Given the description of an element on the screen output the (x, y) to click on. 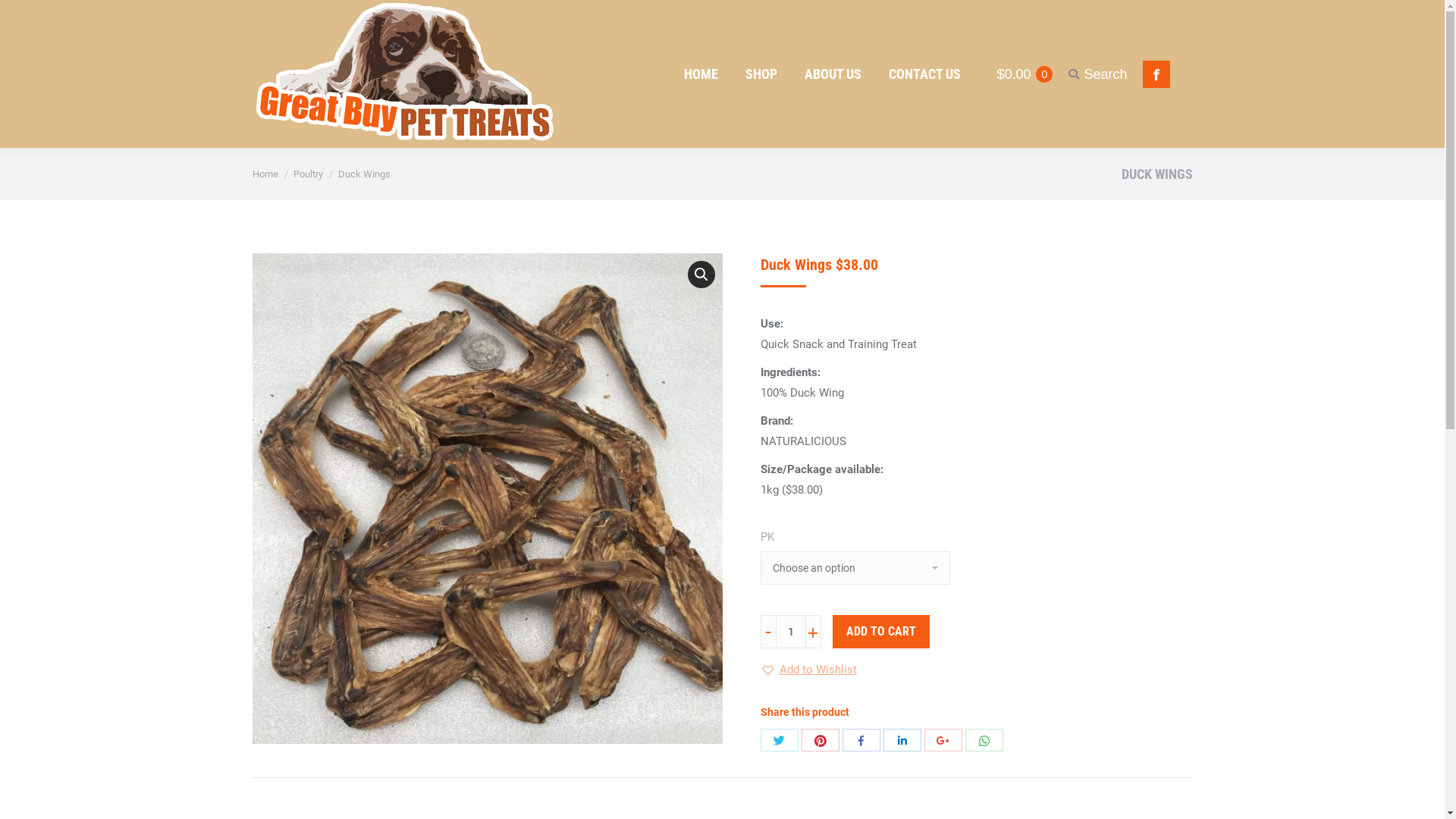
SHOP Element type: text (761, 73)
Qty Element type: hover (790, 631)
CONTACT US Element type: text (924, 73)
Facebook Element type: text (1155, 73)
Search Element type: text (1096, 73)
Share with Google+ Element type: text (942, 739)
ABOUT US Element type: text (832, 73)
Share with Twitter Element type: text (778, 739)
Poultry Element type: text (307, 173)
HOME Element type: text (700, 73)
ADD TO CART Element type: text (880, 631)
$0.00
0 Element type: text (1022, 73)
Share with Pinterest Element type: text (819, 739)
Share with LinkedIn Element type: text (901, 739)
Home Element type: text (264, 173)
Go! Element type: text (22, 16)
Go! Element type: text (743, 450)
Share with Facebook Element type: text (860, 739)
duck wings Element type: hover (486, 498)
Share with WhatsApp Element type: text (983, 739)
Add to Wishlist Element type: text (807, 669)
